Given the description of an element on the screen output the (x, y) to click on. 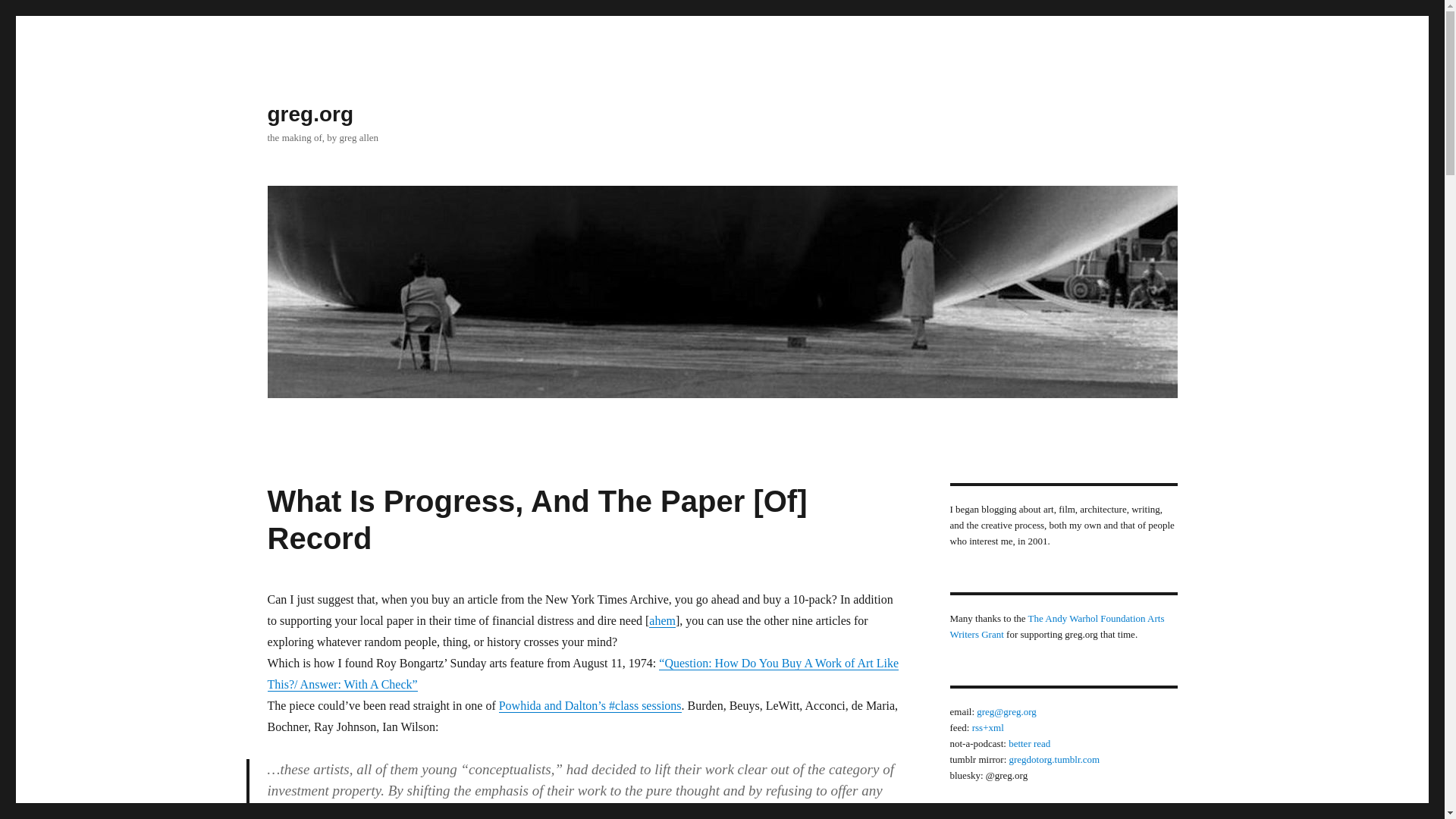
The Andy Warhol Foundation Arts Writers Grant (1056, 625)
gregdotorg.tumblr.com (1054, 758)
better read (1029, 743)
greg.org (309, 114)
ahem (662, 620)
